Given the description of an element on the screen output the (x, y) to click on. 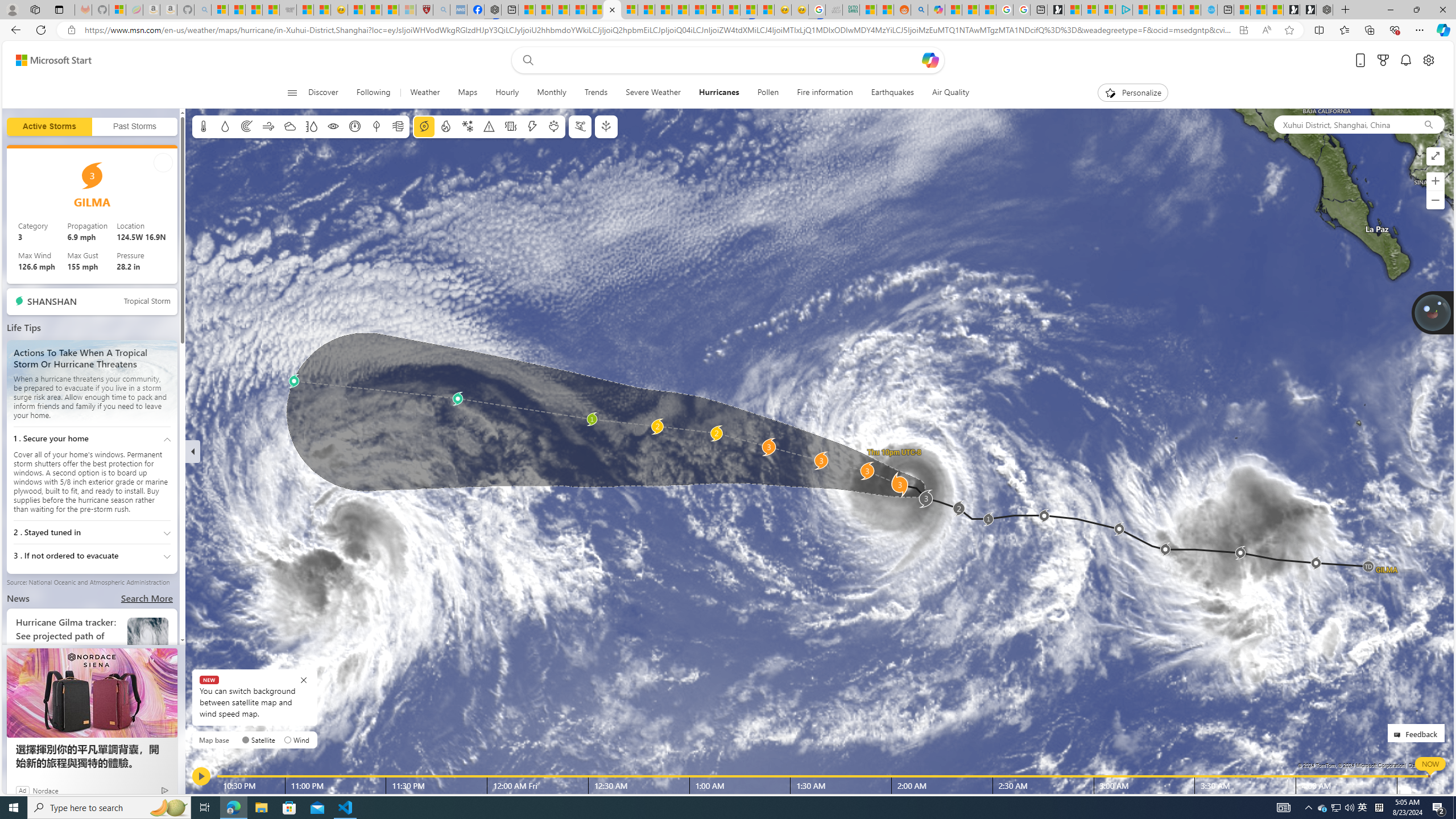
Radar (246, 126)
Hurricane (423, 126)
Earthquakes (892, 92)
Class: feedback_link_icon-DS-EntryPoint1-1 (1399, 734)
Search More (146, 598)
Join us in planting real trees to help our planet! (1431, 312)
